Given the description of an element on the screen output the (x, y) to click on. 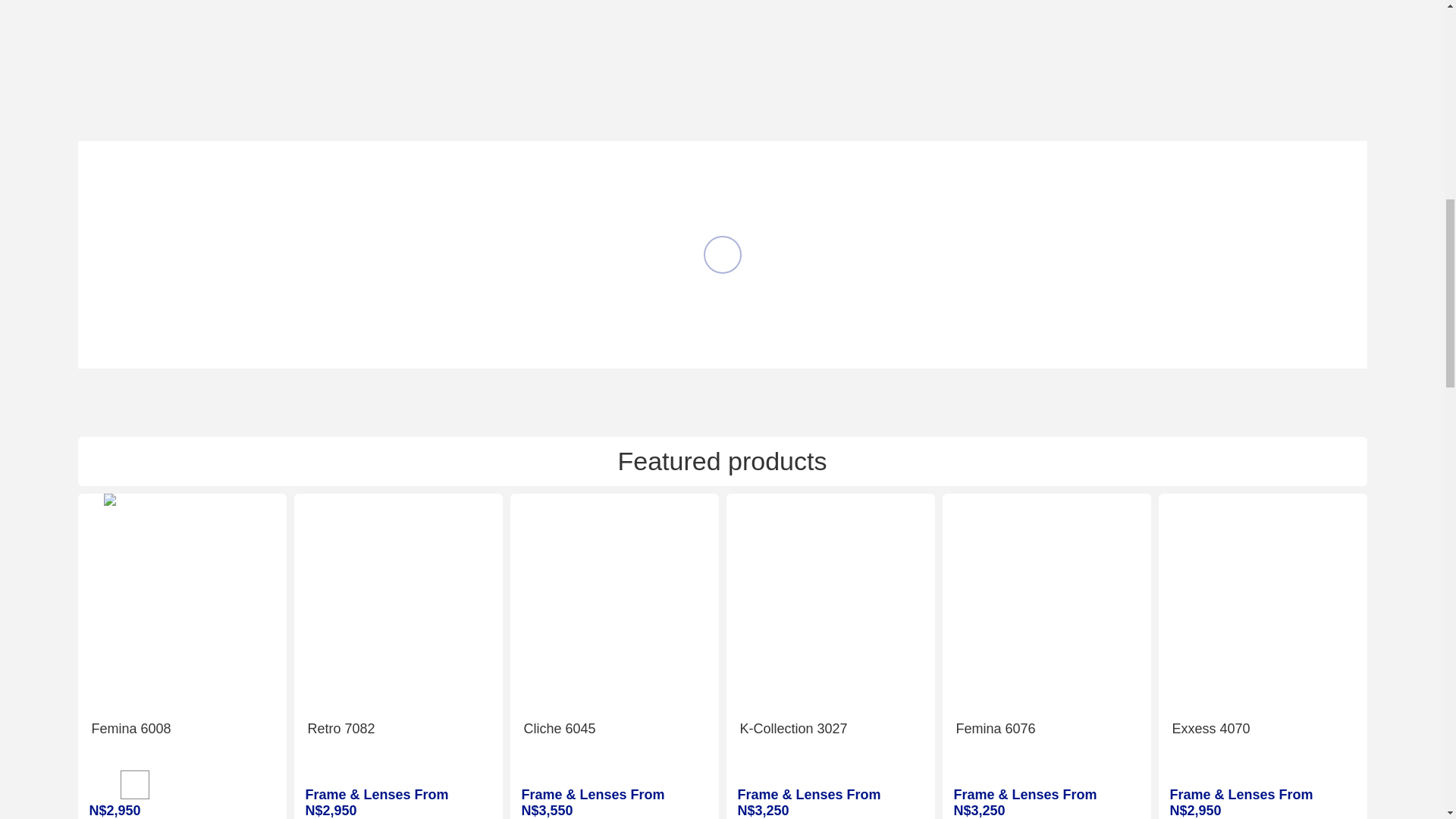
196203 (565, 767)
202122 (967, 767)
172697 (380, 767)
202124 (1029, 767)
172696 (350, 767)
221290 (228, 782)
172698 (411, 767)
164092 (166, 782)
164091 (134, 784)
164093 (197, 782)
202125 (1060, 767)
196205 (628, 767)
196826 (750, 767)
196827 (782, 767)
202123 (997, 767)
